Given the description of an element on the screen output the (x, y) to click on. 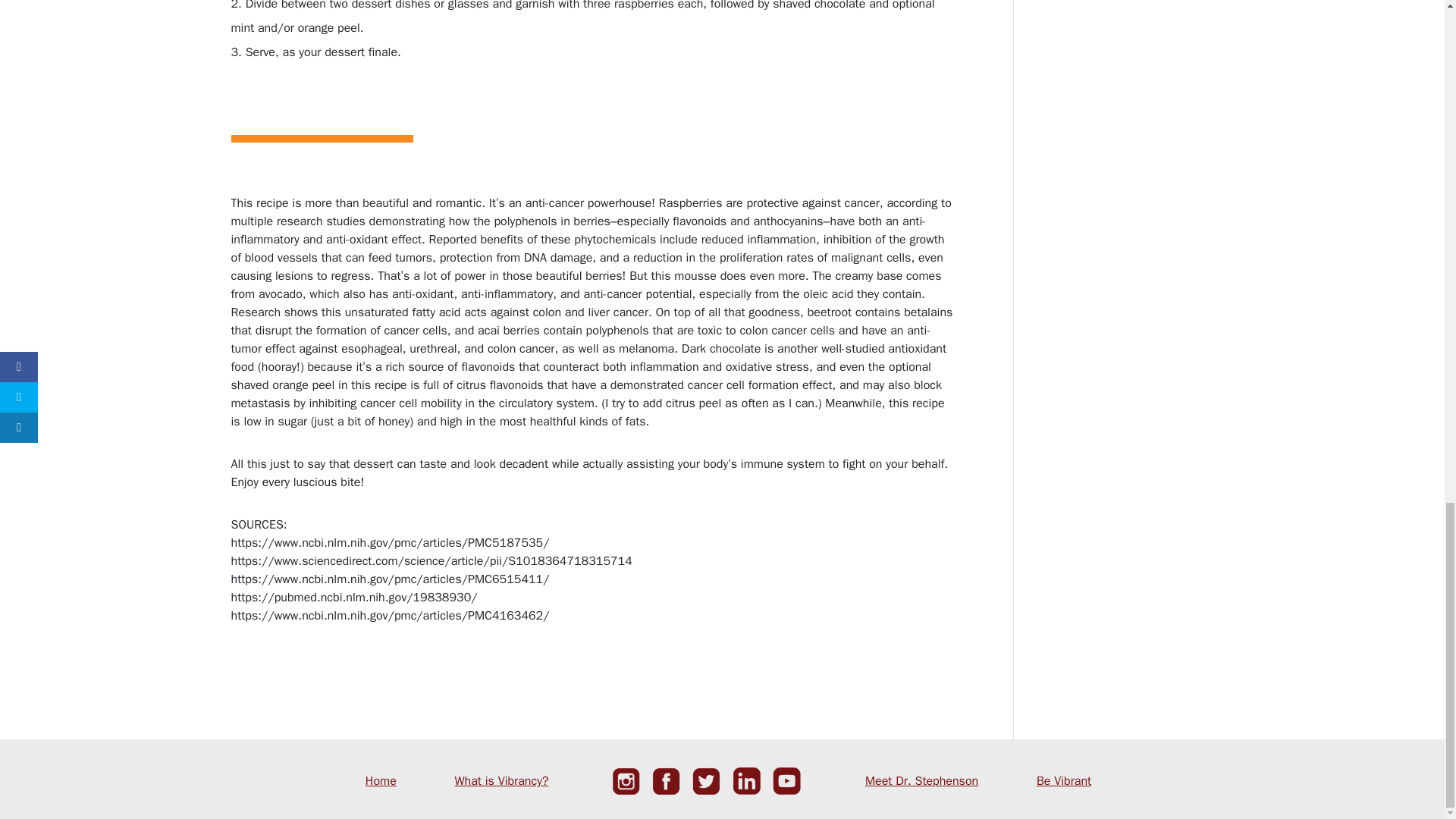
What is Vibrancy? (501, 780)
Be Vibrant (1063, 780)
Meet Dr. Stephenson (921, 780)
Home (380, 780)
